Given the description of an element on the screen output the (x, y) to click on. 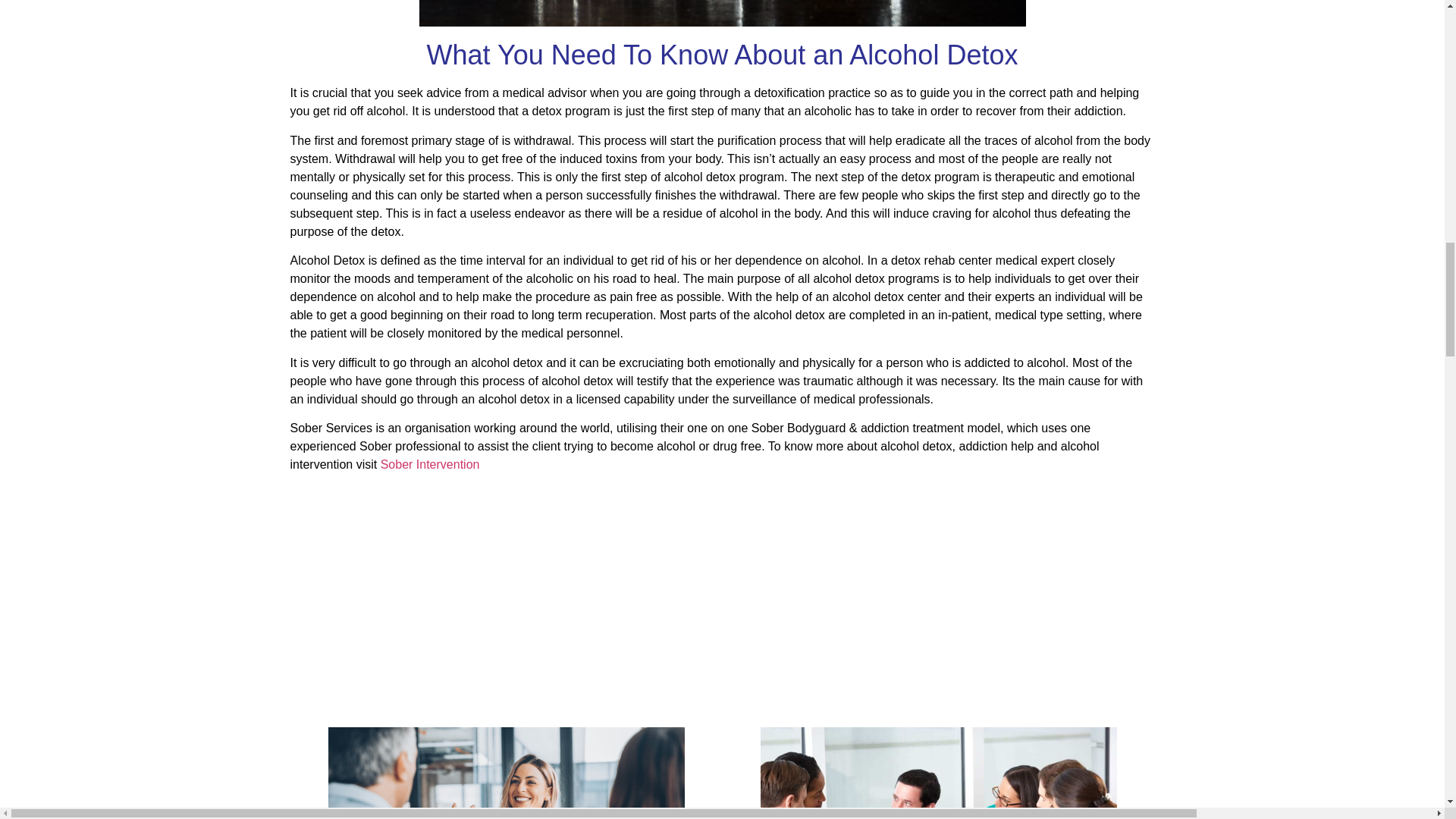
Sober Intervention (430, 463)
